Given the description of an element on the screen output the (x, y) to click on. 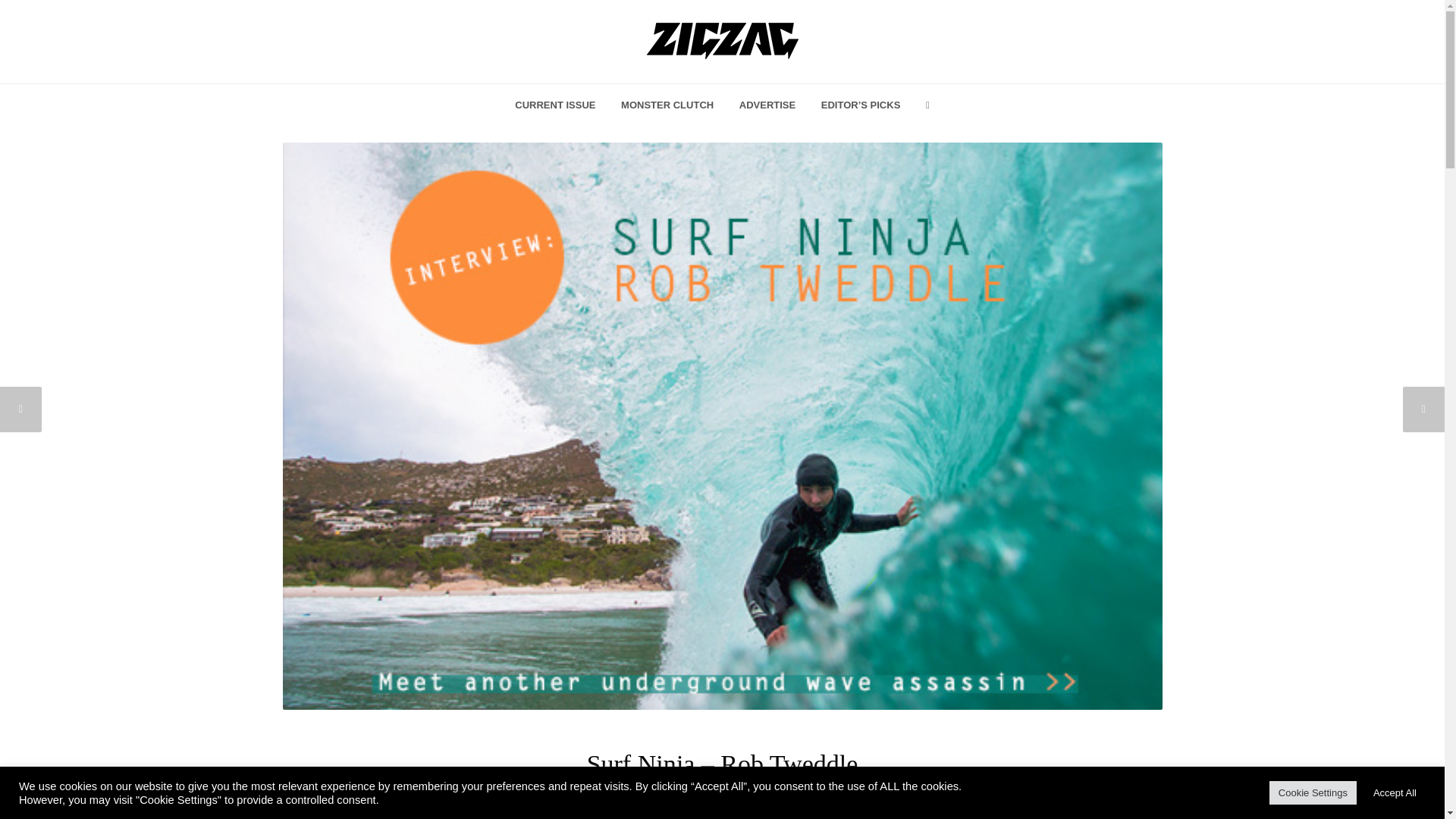
Cookie Settings (1312, 792)
Accept All (1394, 792)
CURRENT ISSUE (555, 105)
MONSTER CLUTCH (667, 105)
ADVERTISE (767, 105)
